Given the description of an element on the screen output the (x, y) to click on. 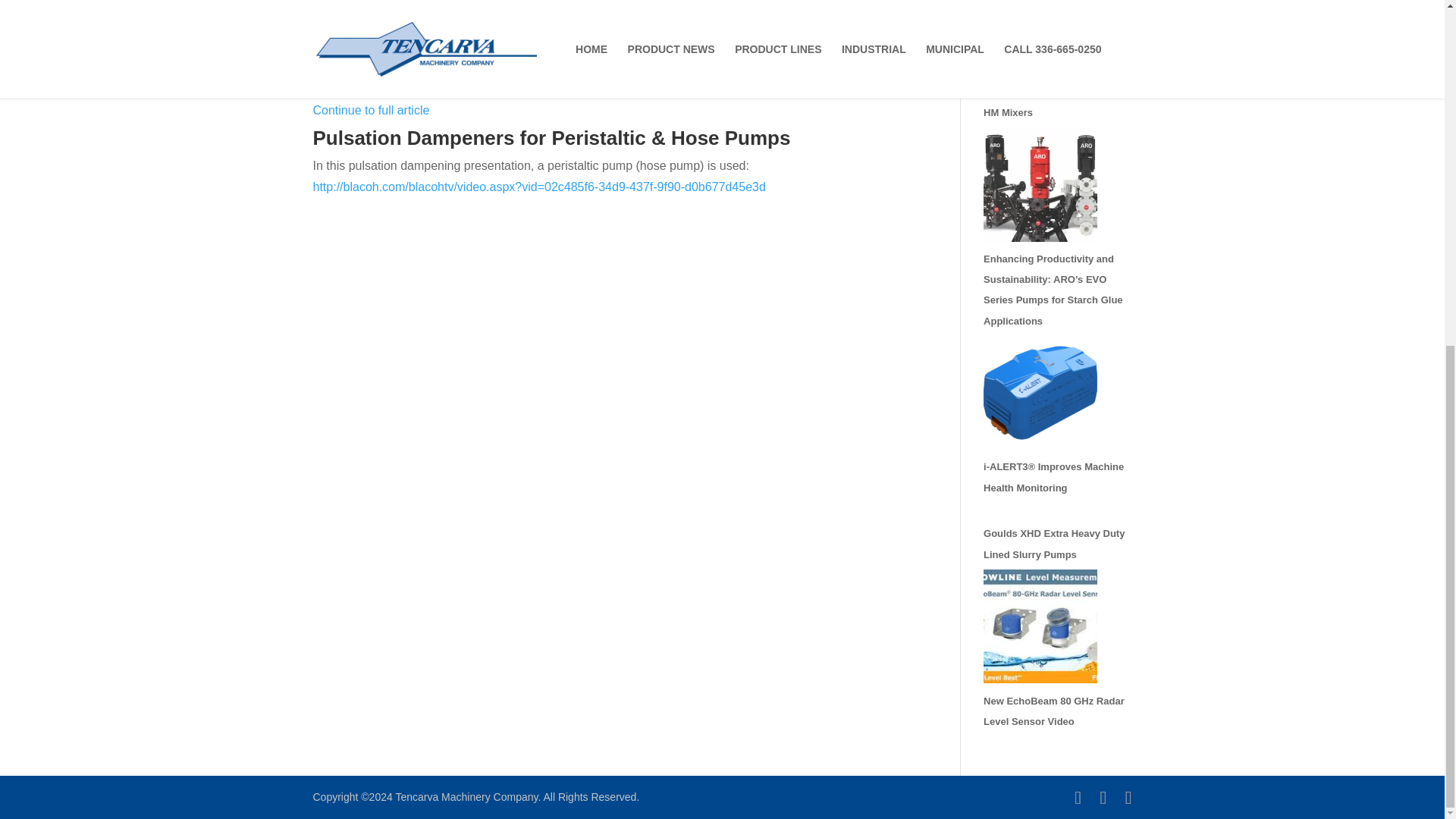
Continue to full article (371, 110)
Goulds XHD Extra Heavy Duty Lined Slurry Pumps (1054, 543)
New EchoBeam 80 GHz Radar Level Sensor Video (1054, 711)
